Given the description of an element on the screen output the (x, y) to click on. 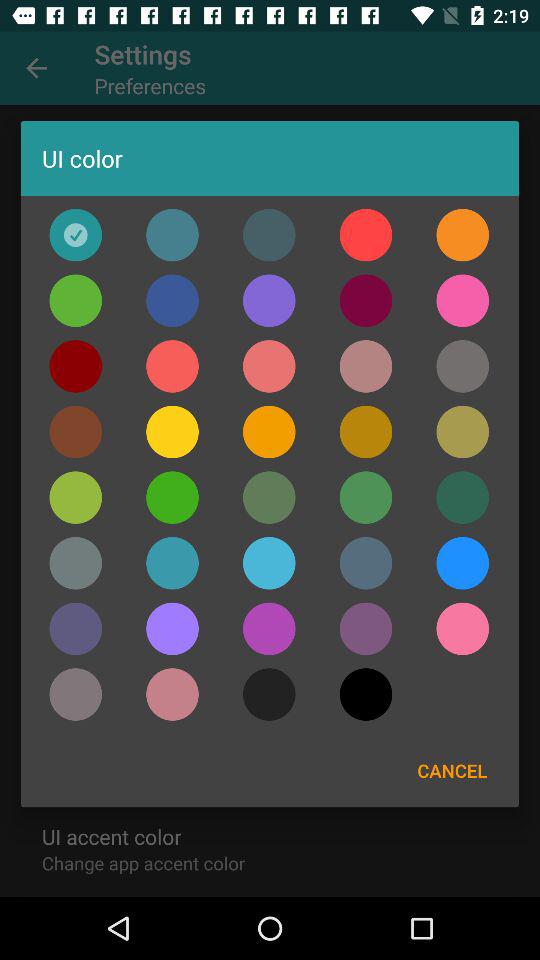
colour option (172, 234)
